Given the description of an element on the screen output the (x, y) to click on. 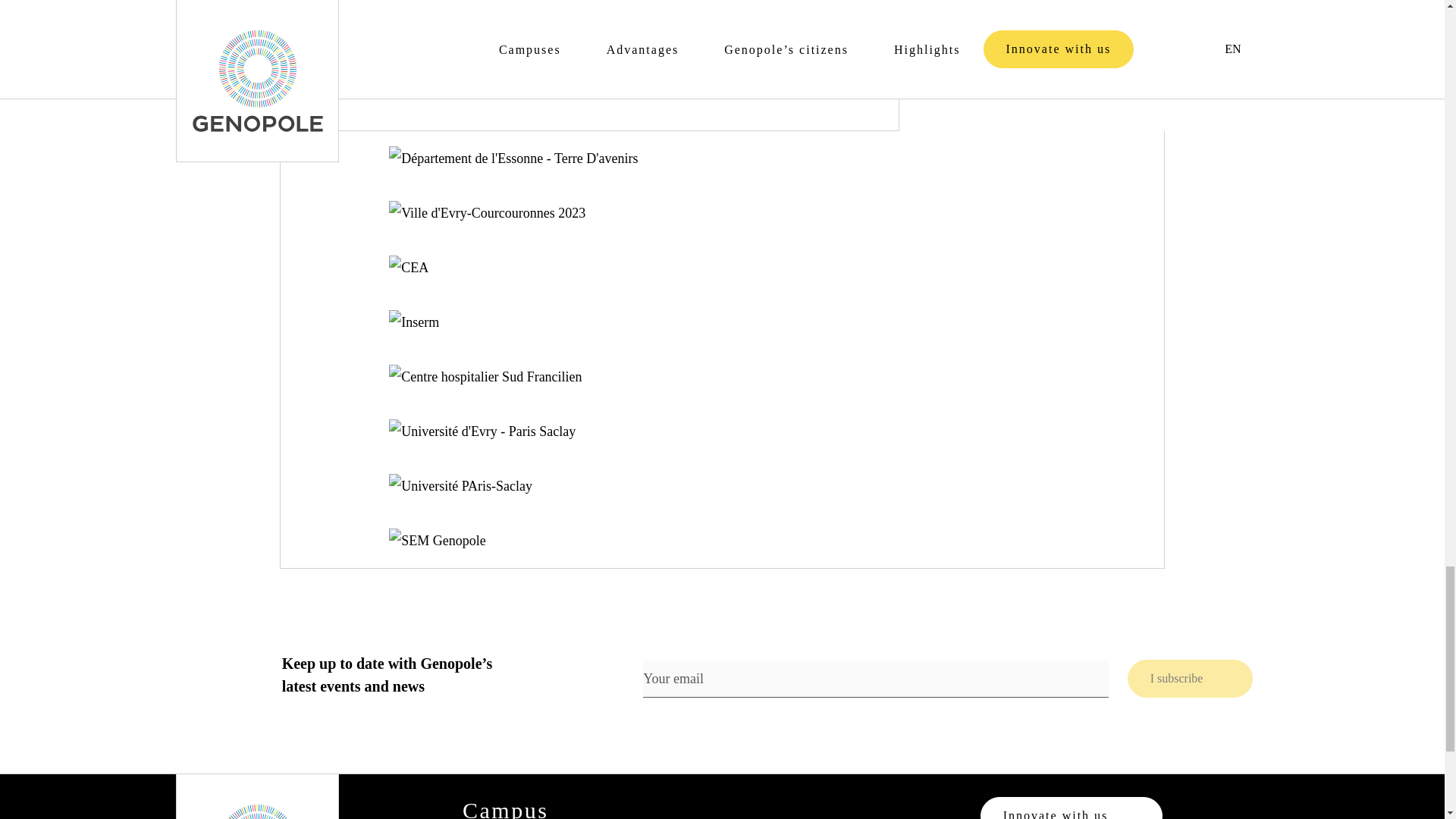
I subscribe (1189, 678)
